Given the description of an element on the screen output the (x, y) to click on. 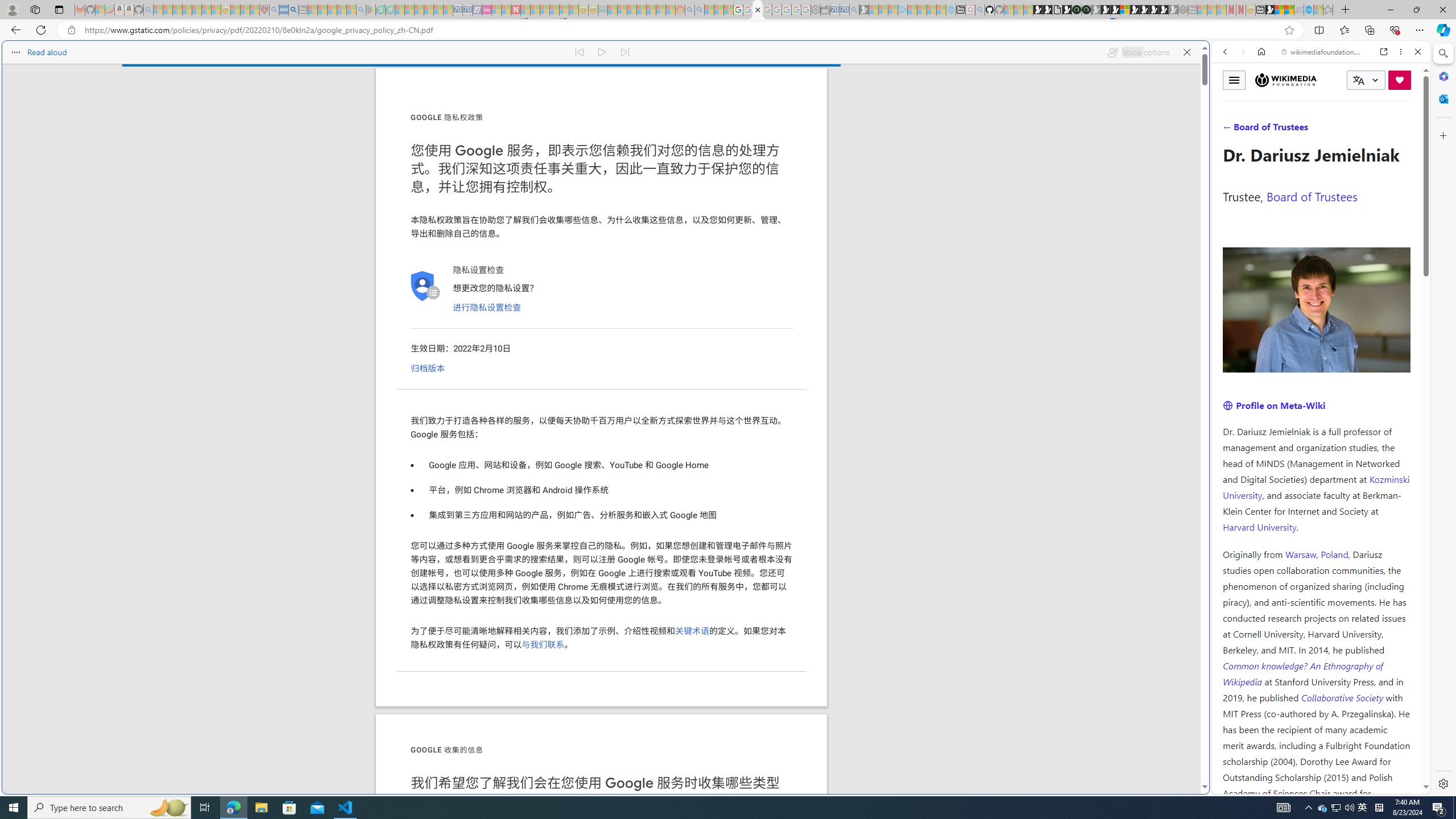
Harvard University (1259, 526)
Favorites - Sleeping (1327, 9)
Services - Maintenance | Sky Blue Bikes - Sky Blue Bikes (1307, 9)
Wikimedia Foundation (1285, 79)
utah sues federal government - Search (922, 389)
Continue to read aloud (Ctrl+Shift+U) (602, 52)
